Given the description of an element on the screen output the (x, y) to click on. 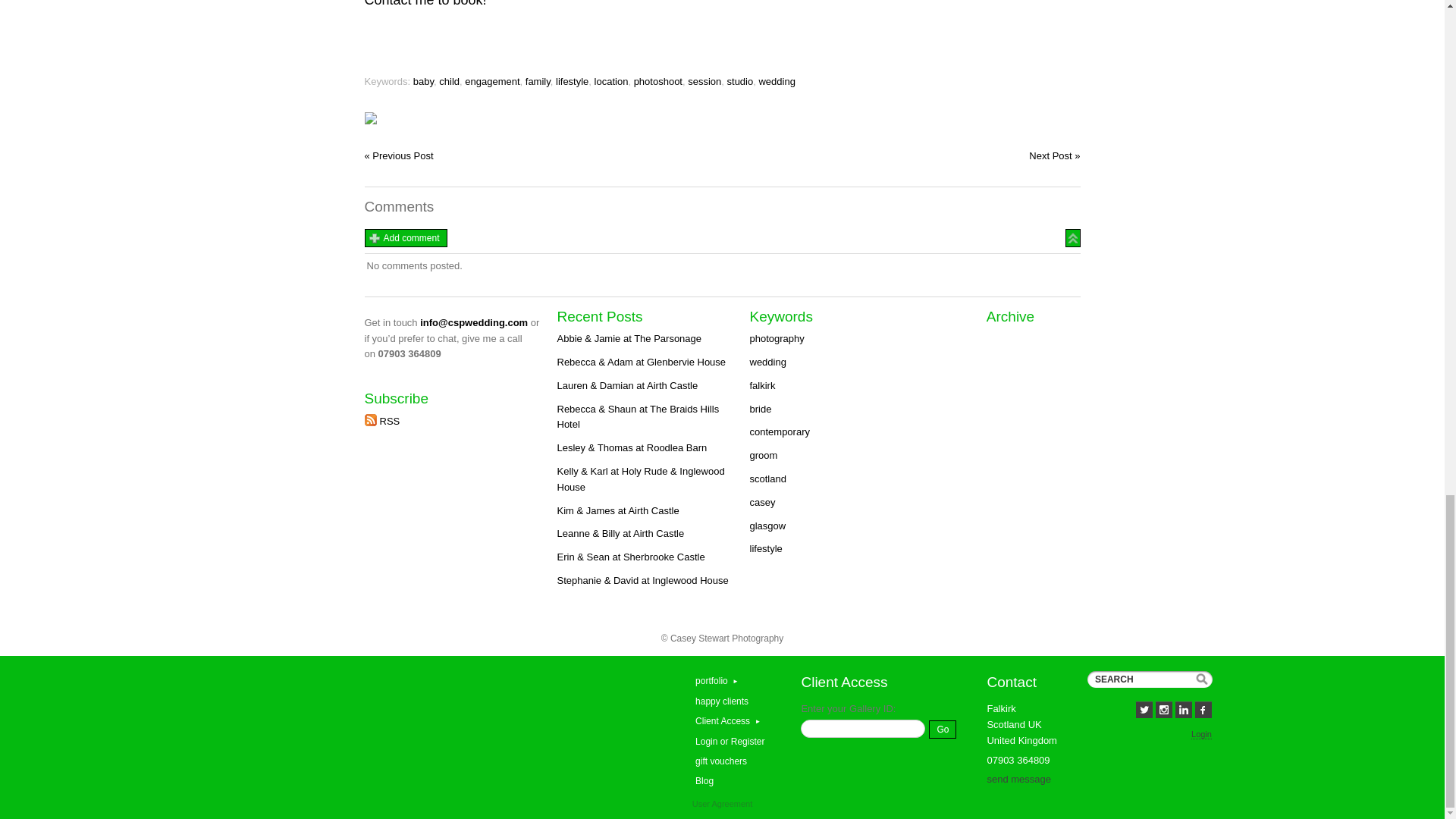
SEARCH (1149, 678)
Casey Stewart Photography (445, 722)
SEARCH (1149, 678)
